Given the description of an element on the screen output the (x, y) to click on. 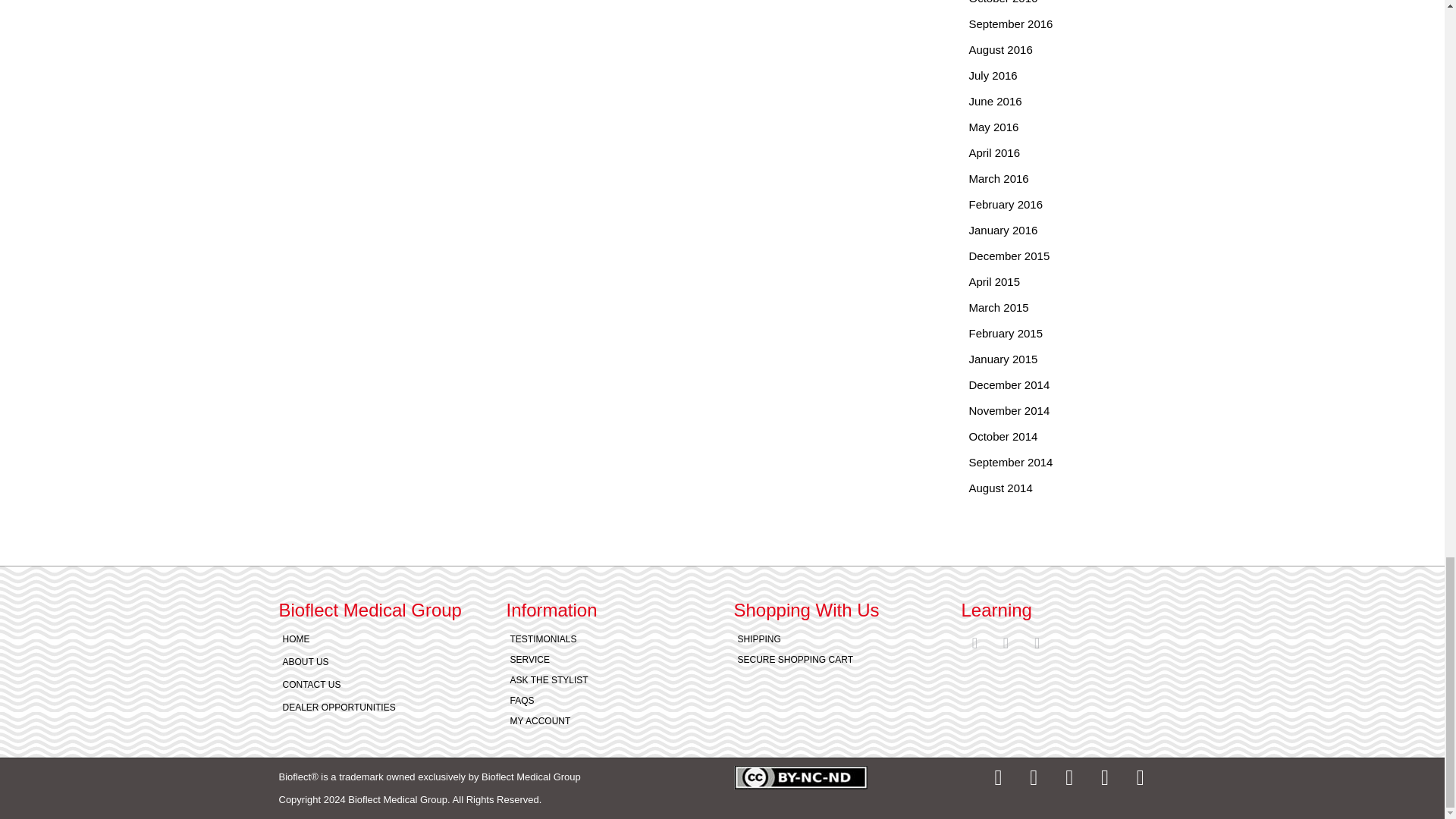
Like Us on Facebook (1005, 642)
Follow Us on Twitter (1037, 642)
Subscribe to our Blog (974, 642)
